Given the description of an element on the screen output the (x, y) to click on. 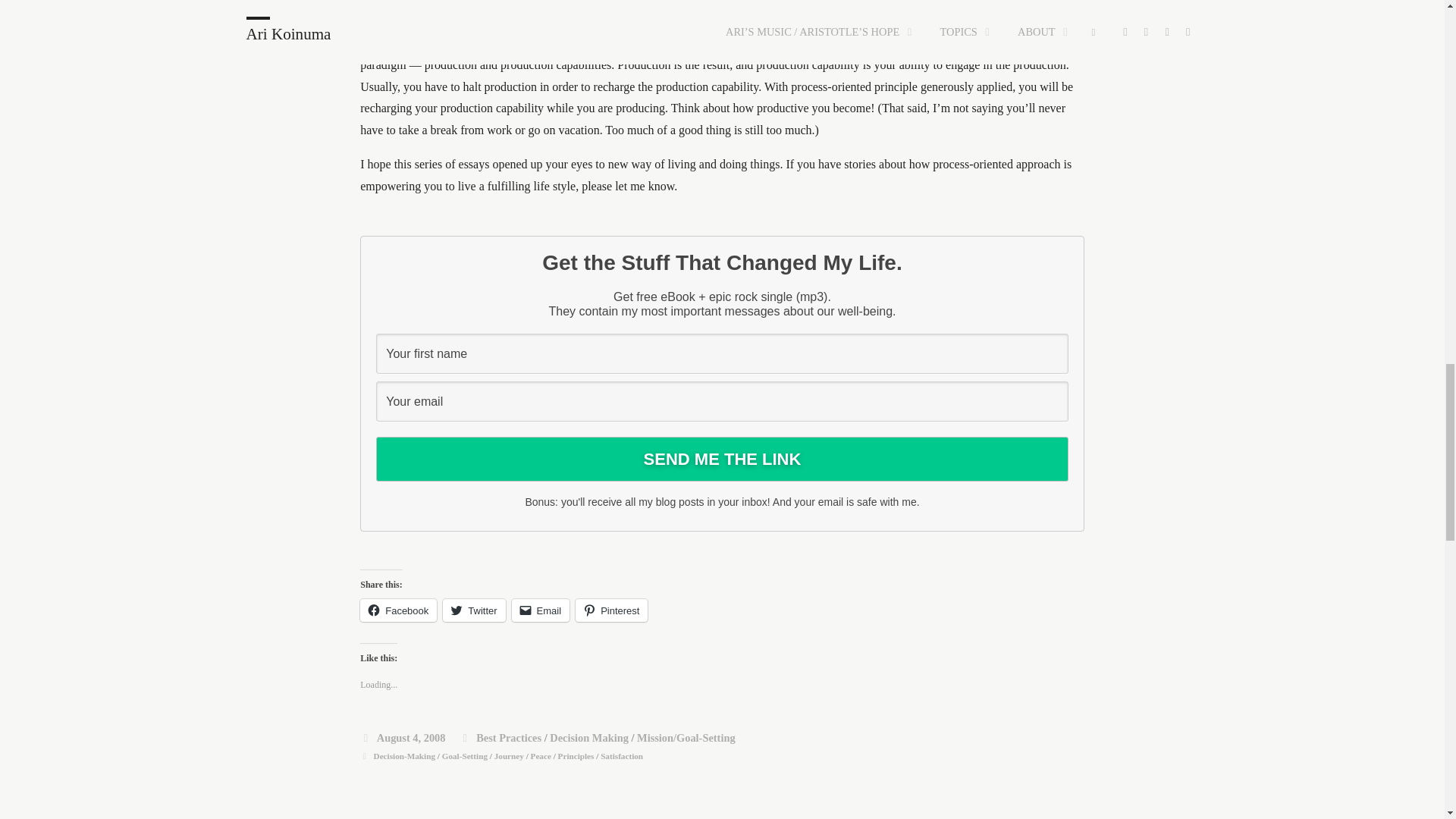
Click to share on Pinterest (611, 609)
Send Me the Link (721, 458)
Click to share on Twitter (473, 609)
Tagged (363, 755)
Click to share on Facebook (397, 609)
Click to email a link to a friend (541, 609)
Send Me the Link (721, 458)
